Given the description of an element on the screen output the (x, y) to click on. 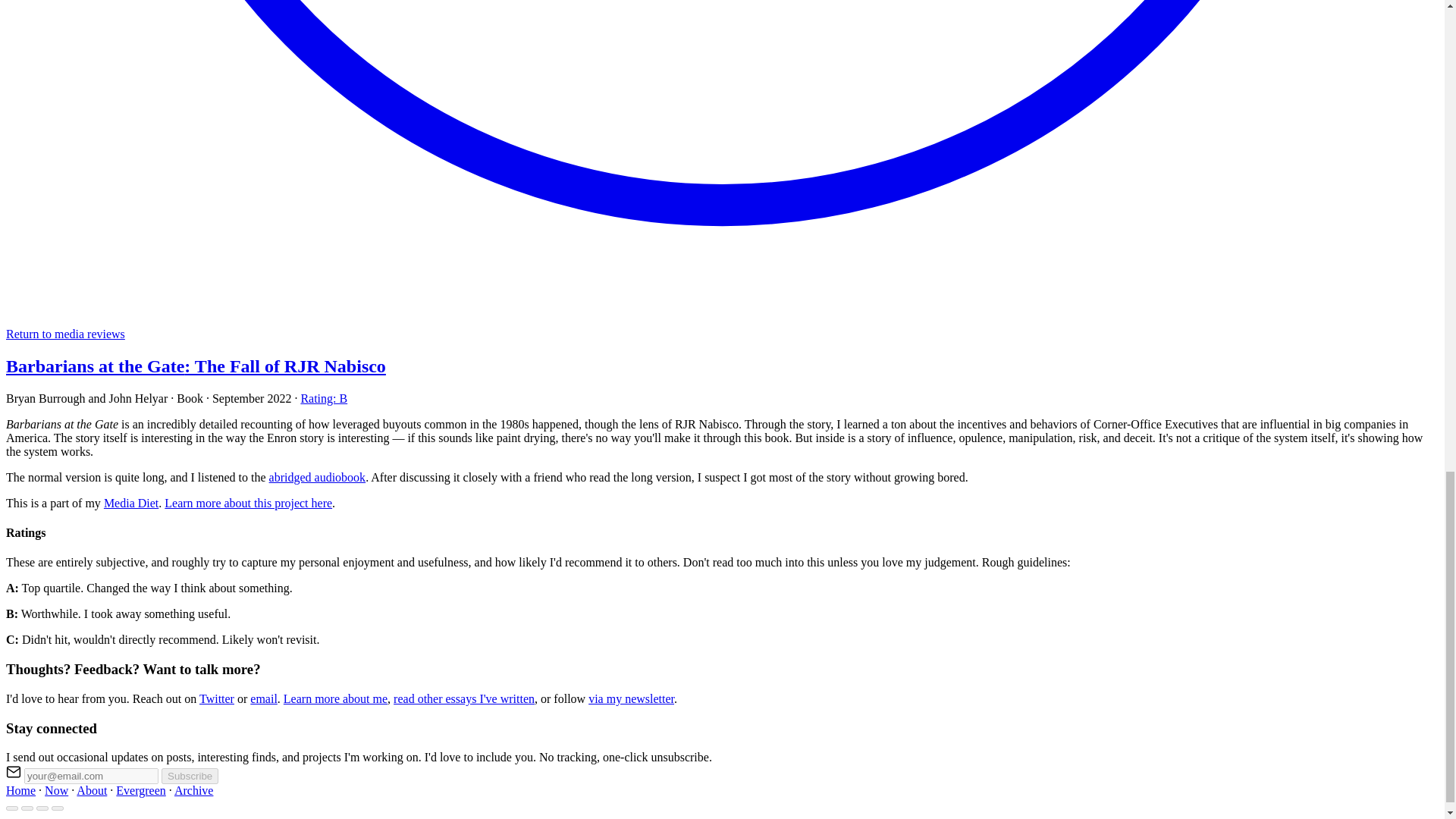
via my newsletter (631, 698)
abridged audiobook (317, 477)
About (91, 789)
Archive (194, 789)
Share (27, 807)
Home (19, 789)
Subscribe (189, 775)
Now (56, 789)
read other essays I've written (463, 698)
Evergreen (140, 789)
